Given the description of an element on the screen output the (x, y) to click on. 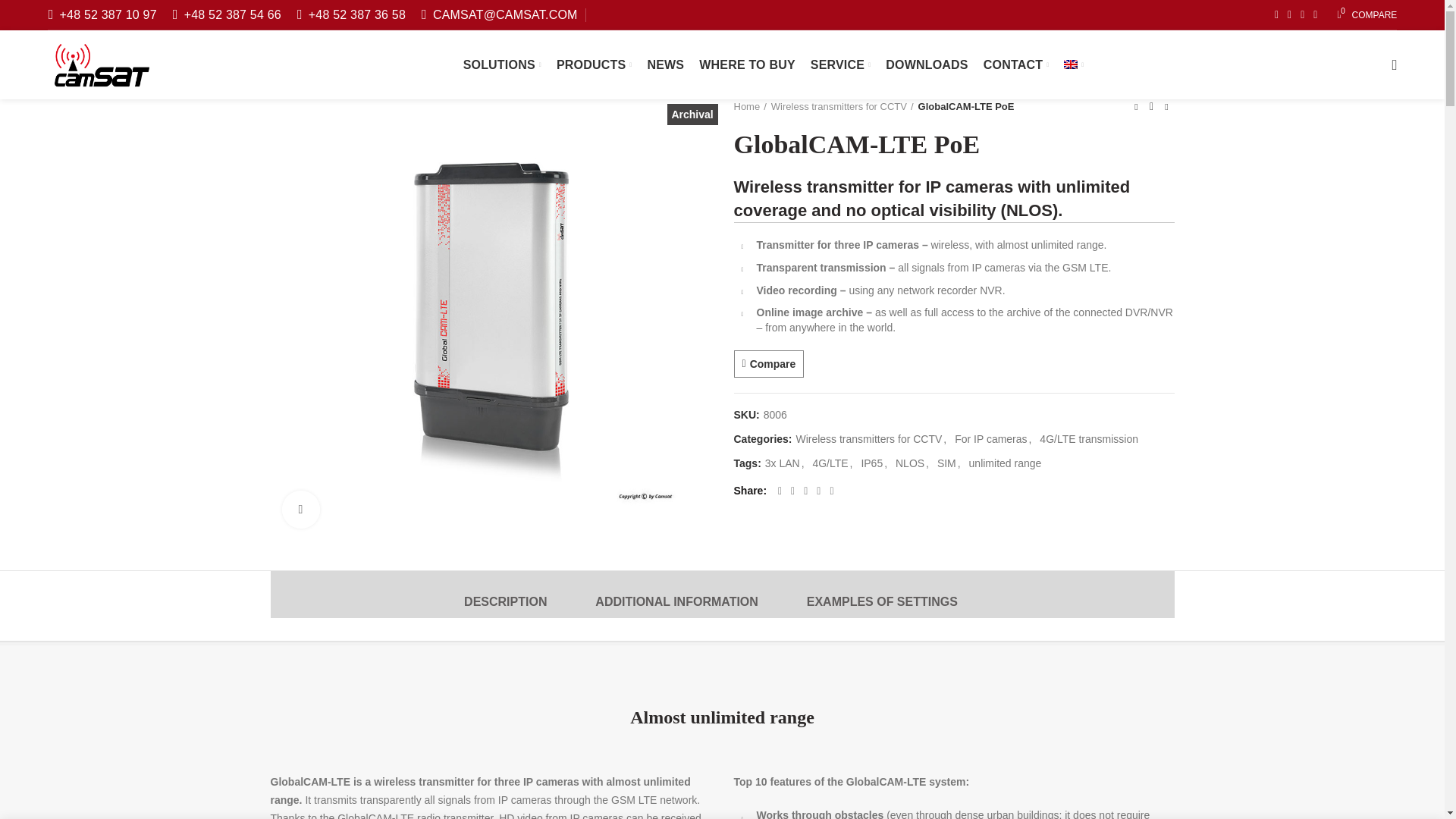
SOLUTIONS (501, 64)
PRODUCTS (1367, 15)
Compare products (594, 64)
